Given the description of an element on the screen output the (x, y) to click on. 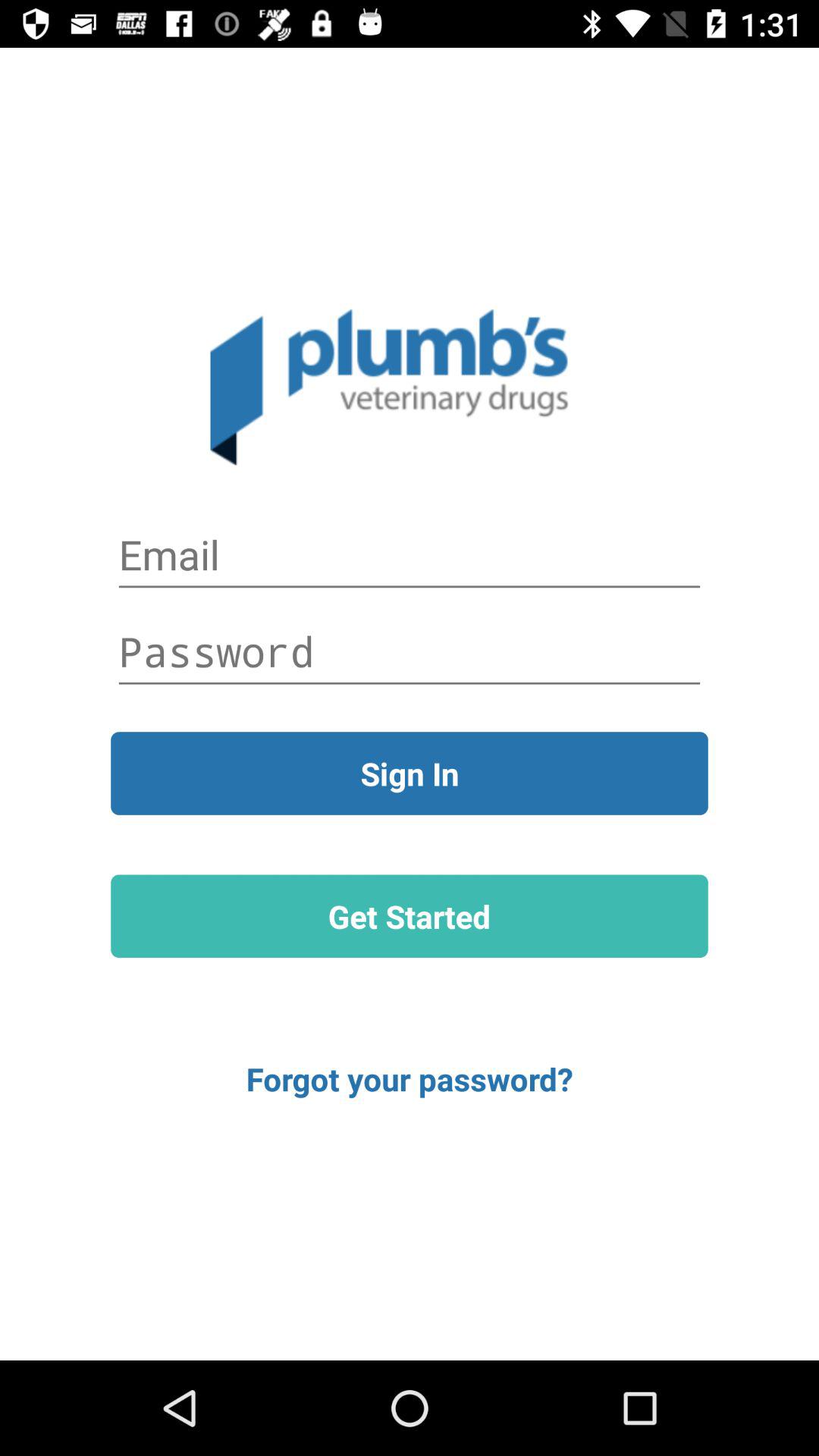
click the forgot your password? (409, 1078)
